Given the description of an element on the screen output the (x, y) to click on. 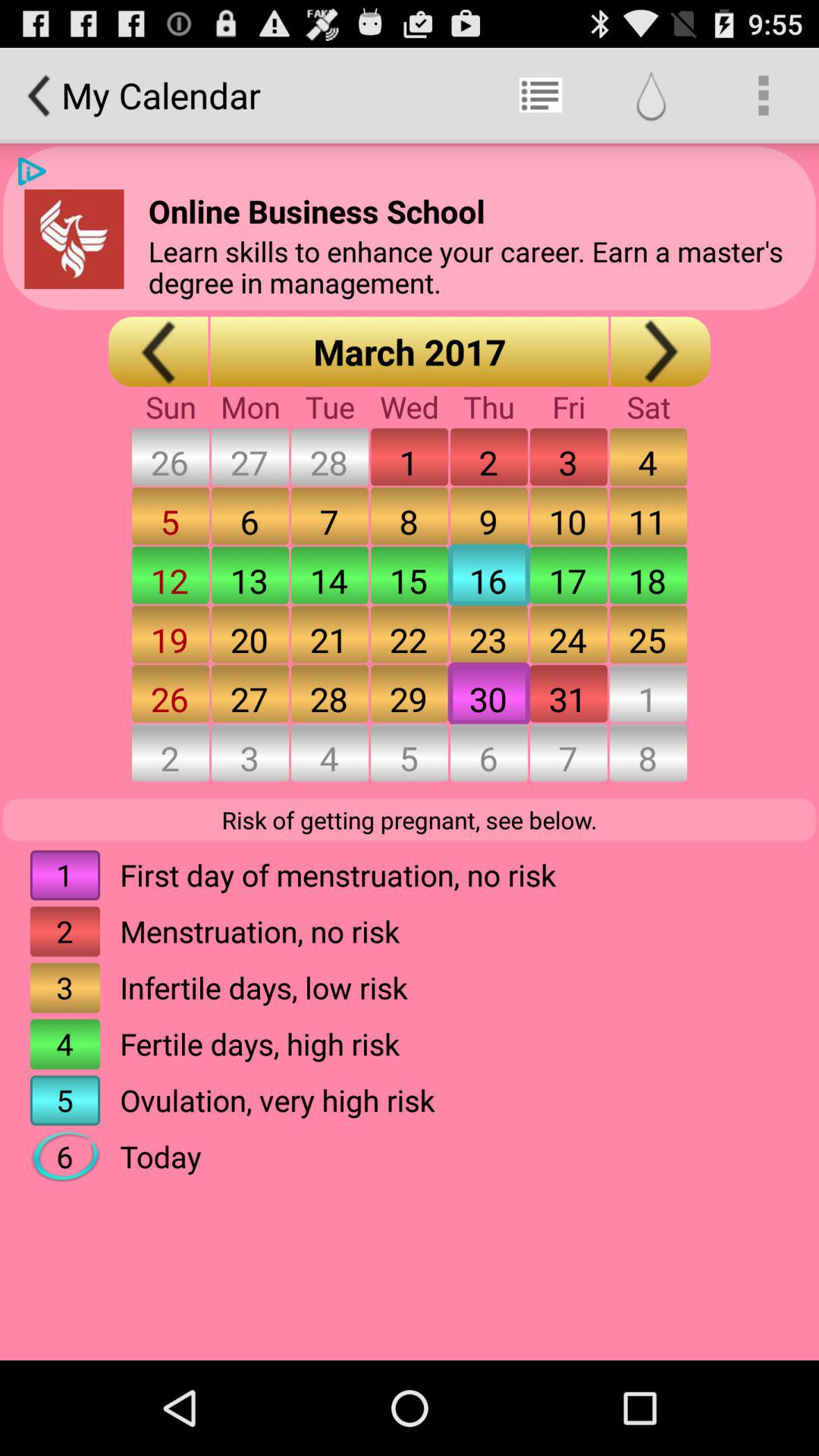
go to next month (660, 351)
